Given the description of an element on the screen output the (x, y) to click on. 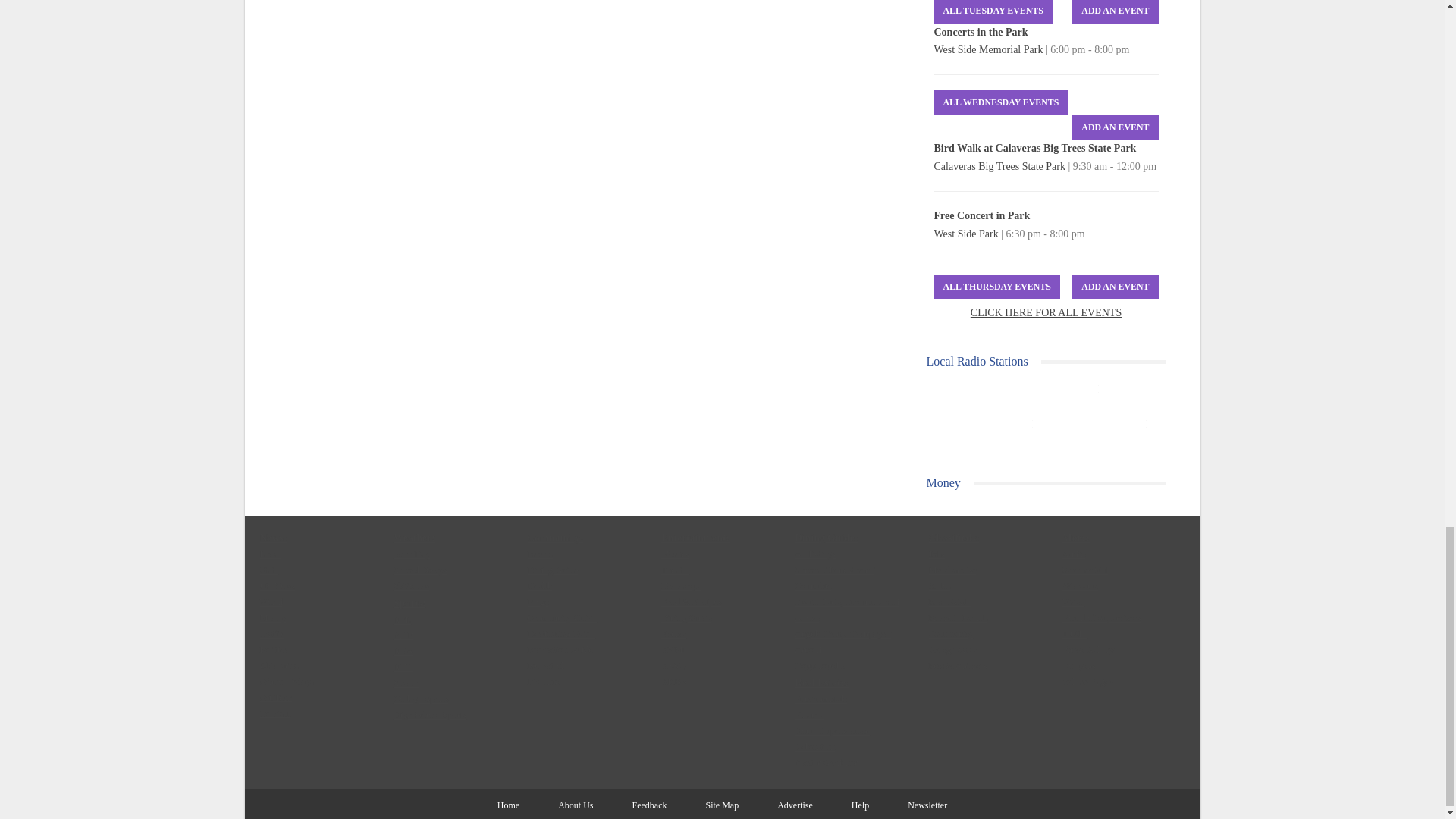
Add An Event (1114, 127)
Add An Event (1114, 11)
All Thursday Events (996, 286)
All Tuesday Events (993, 11)
Add An Event (1114, 286)
All Wednesday Events (1001, 102)
